Given the description of an element on the screen output the (x, y) to click on. 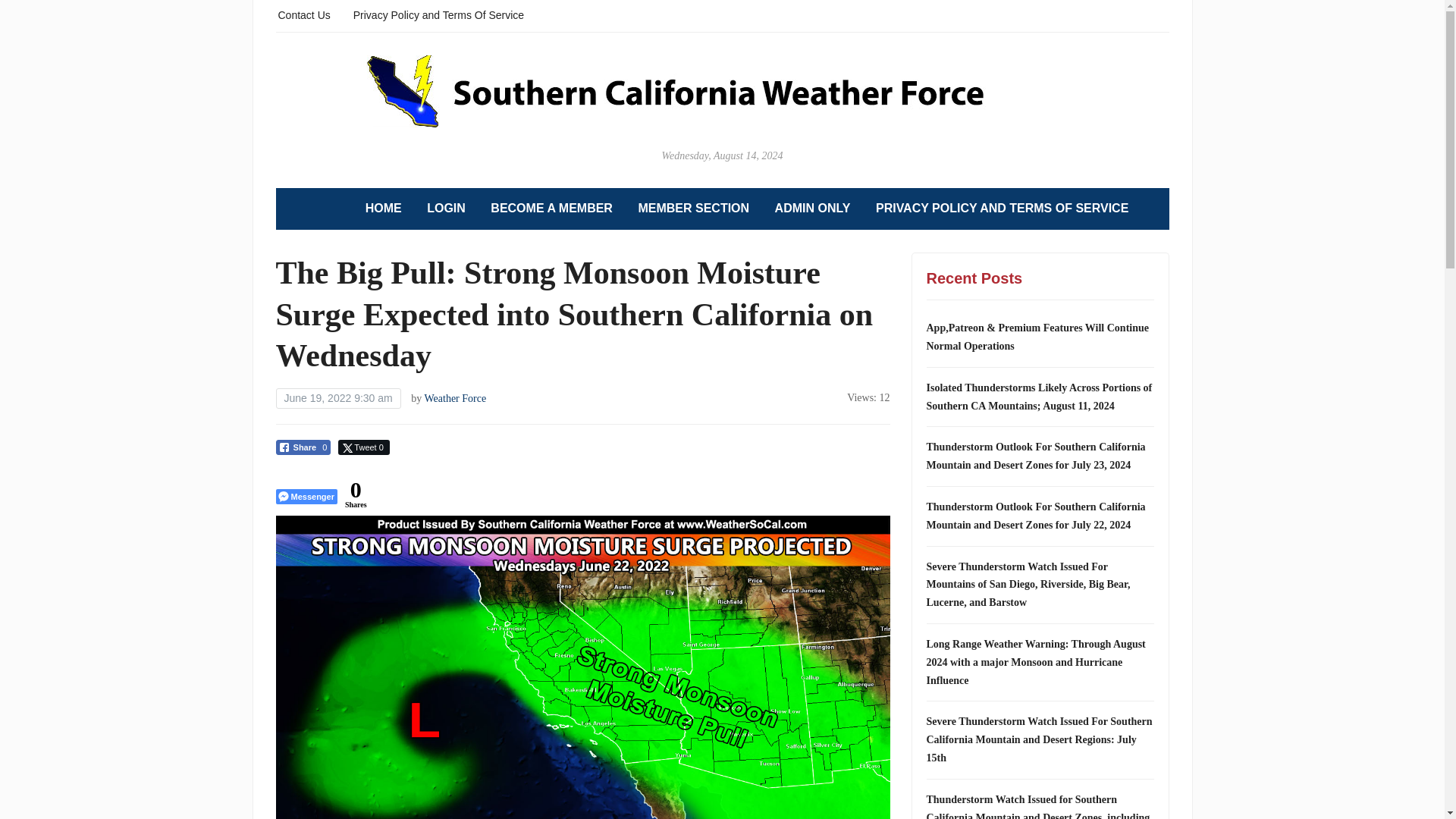
MEMBER SECTION (693, 209)
Privacy Policy and Terms Of Service (438, 14)
Weather Force (454, 398)
ADMIN ONLY (812, 209)
Contact Us (304, 14)
PRIVACY POLICY AND TERMS OF SERVICE (1002, 209)
HOME (383, 209)
